Given the description of an element on the screen output the (x, y) to click on. 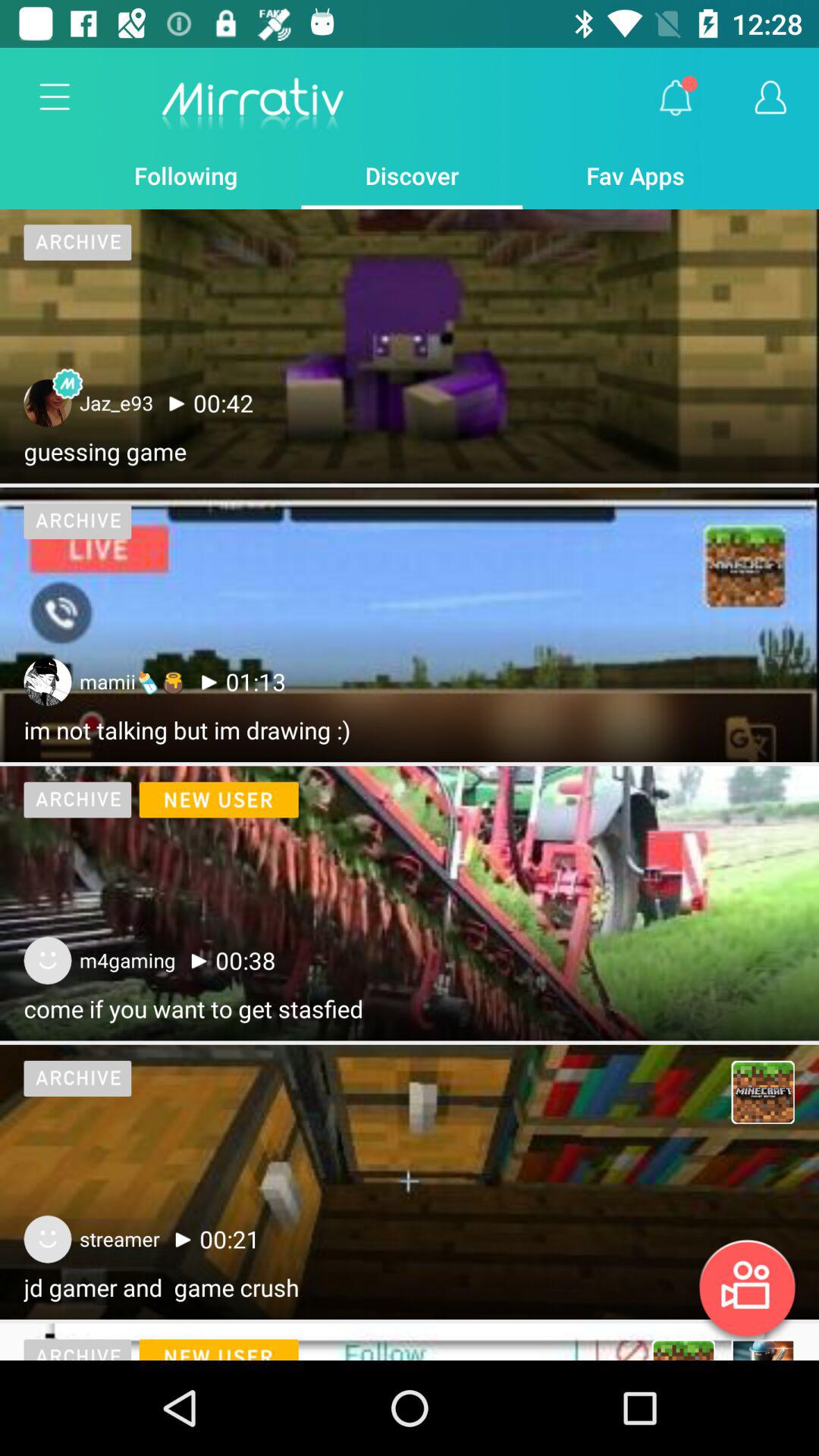
select the app to the left of following app (55, 97)
